Given the description of an element on the screen output the (x, y) to click on. 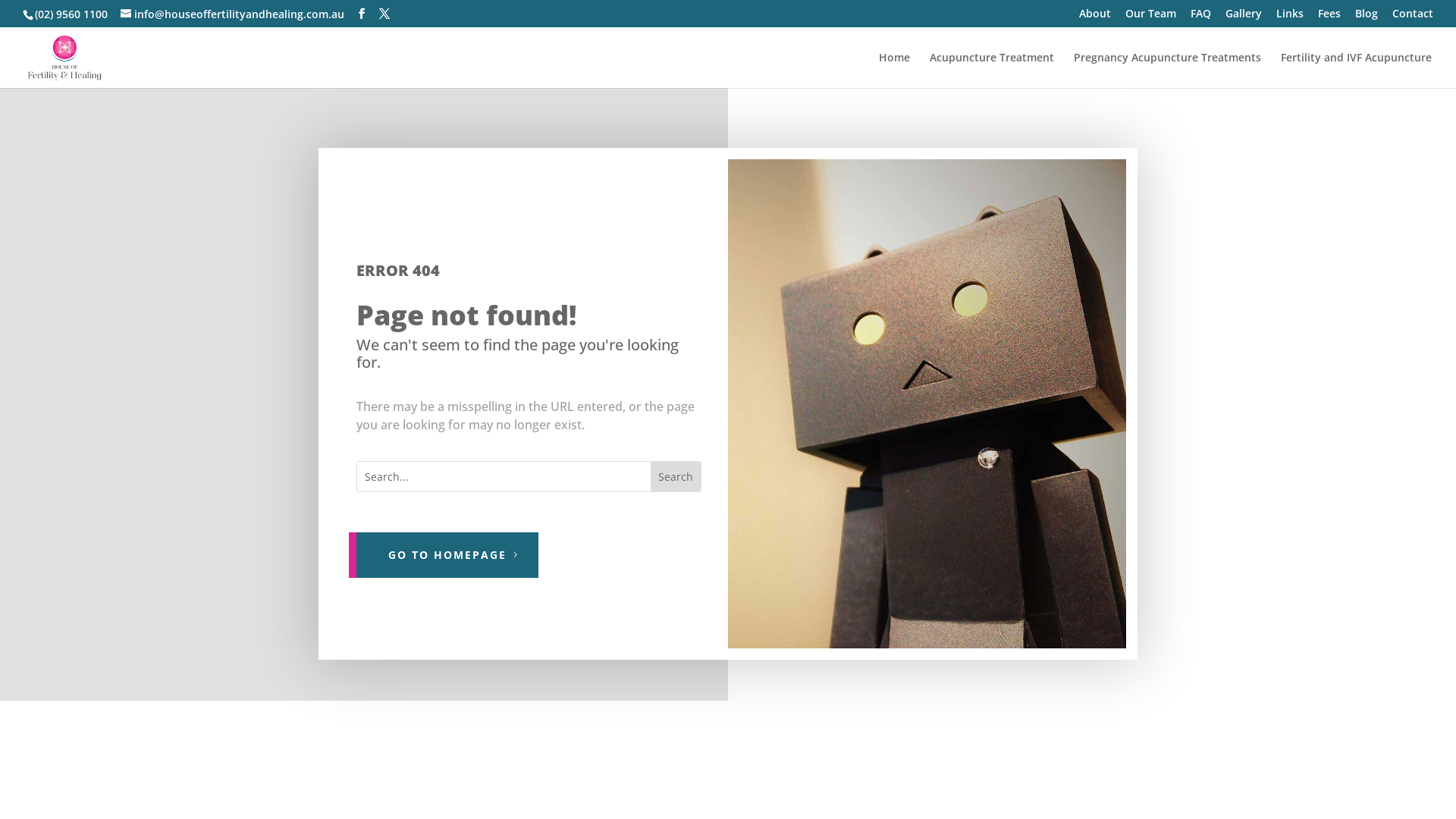
Fertility and IVF Acupuncture Element type: text (1355, 69)
About Element type: text (1094, 16)
FAQ Element type: text (1200, 16)
Gallery Element type: text (1243, 16)
Pregnancy Acupuncture Treatments Element type: text (1167, 69)
Contact Element type: text (1412, 16)
Links Element type: text (1289, 16)
Fees Element type: text (1328, 16)
GO TO HOMEPAGE Element type: text (447, 554)
Our Team Element type: text (1150, 16)
Acupuncture Treatment Element type: text (991, 69)
(02) 9560 1100 Element type: text (70, 13)
Blog Element type: text (1366, 16)
Search Element type: text (675, 476)
Home Element type: text (894, 69)
info@houseoffertilityandhealing.com.au Element type: text (232, 13)
